Given the description of an element on the screen output the (x, y) to click on. 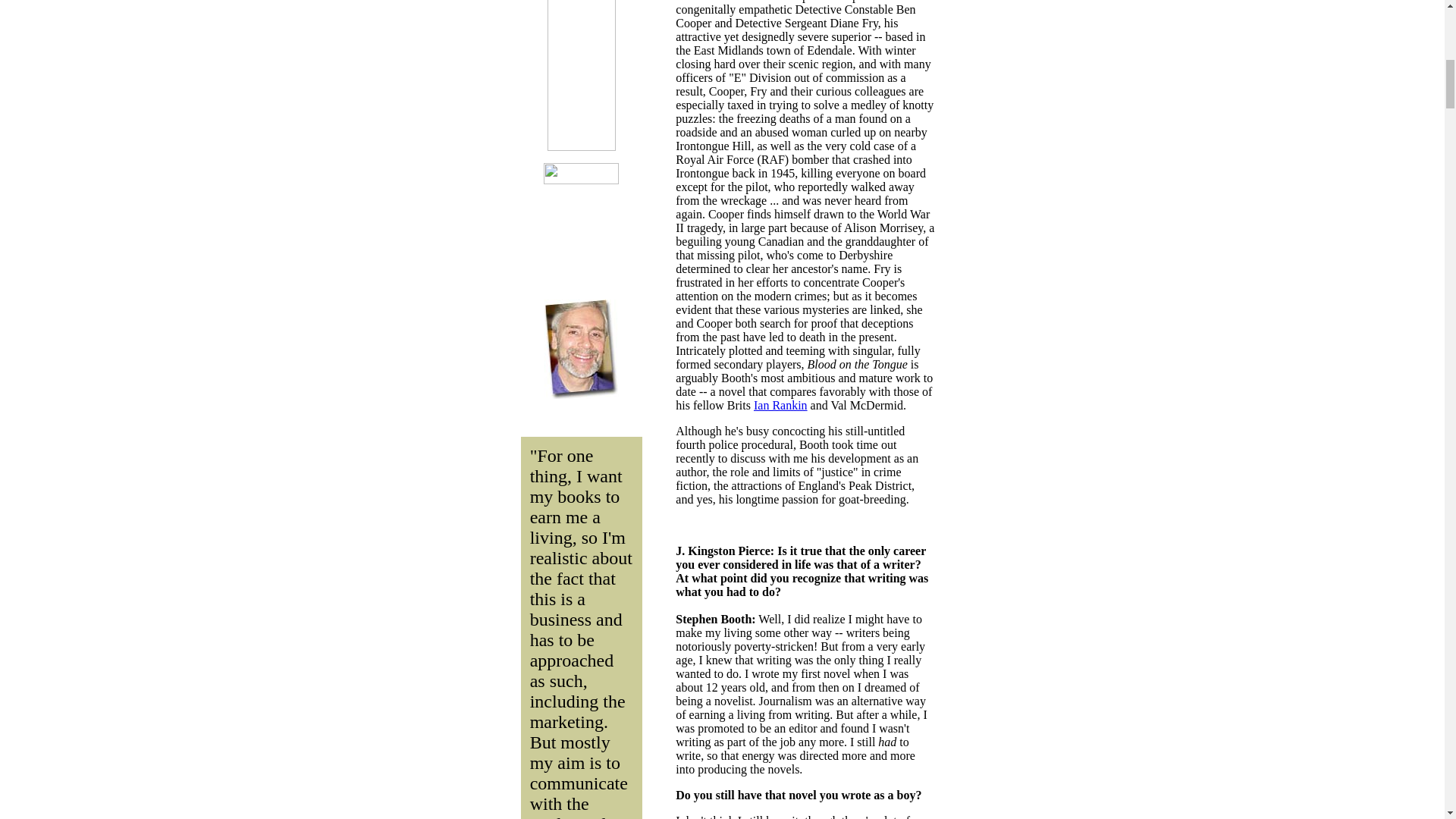
Ian Rankin (781, 404)
